Given the description of an element on the screen output the (x, y) to click on. 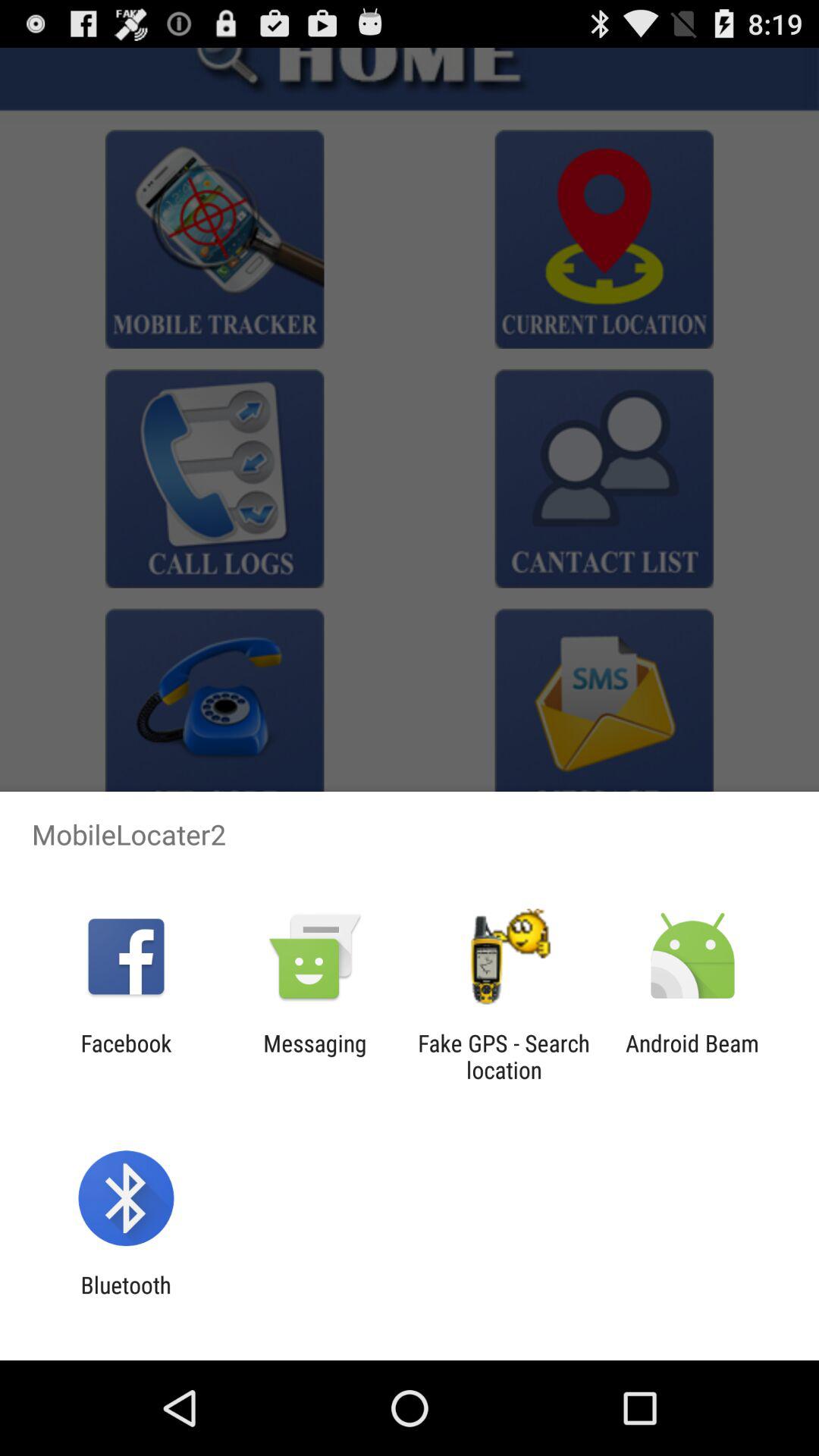
tap the app at the bottom right corner (692, 1056)
